Given the description of an element on the screen output the (x, y) to click on. 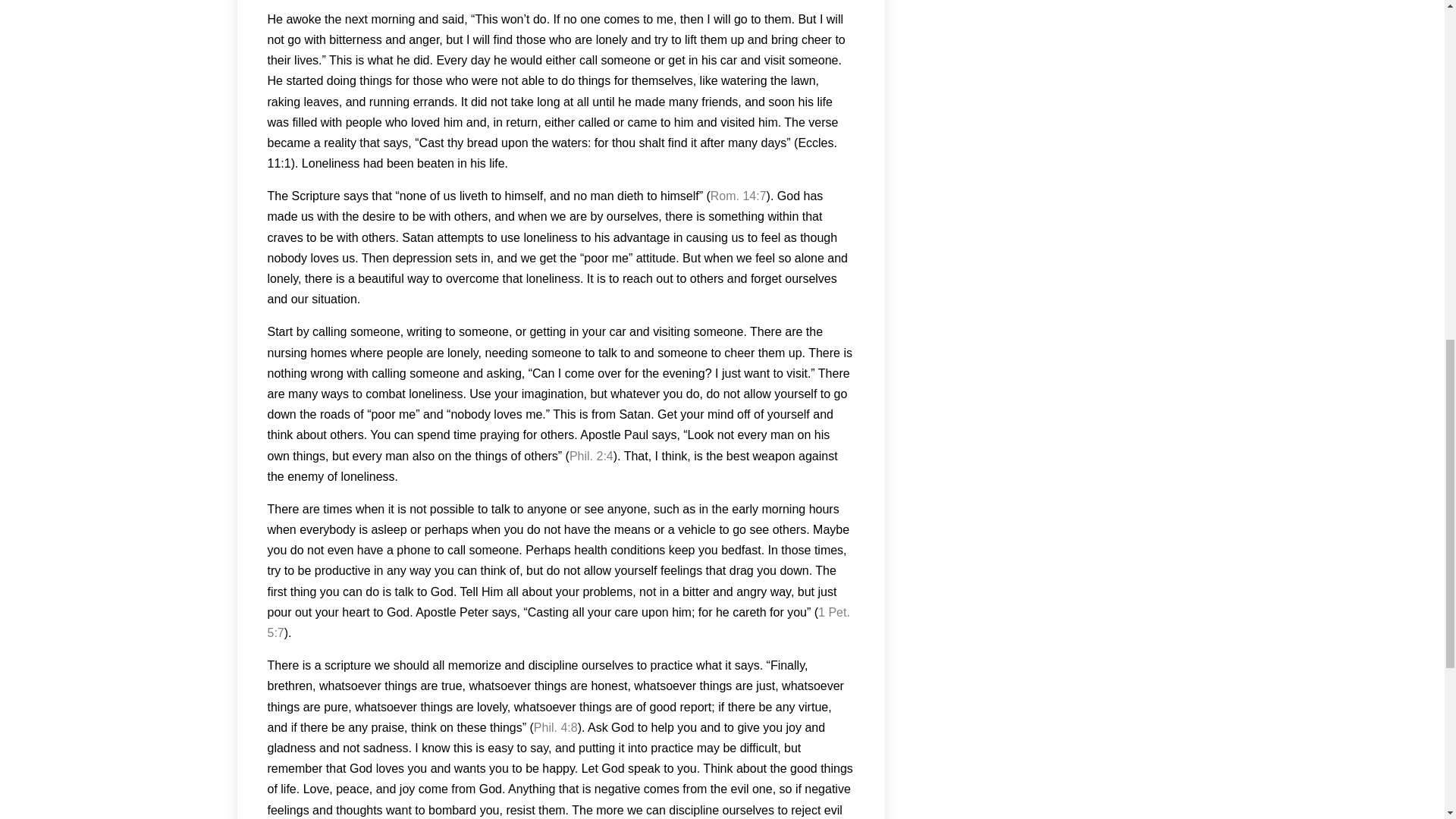
1 Pet. 5:7 (557, 622)
Phil. 2:4 (590, 455)
Phil. 4:8 (556, 727)
Rom. 14:7 (738, 195)
